Given the description of an element on the screen output the (x, y) to click on. 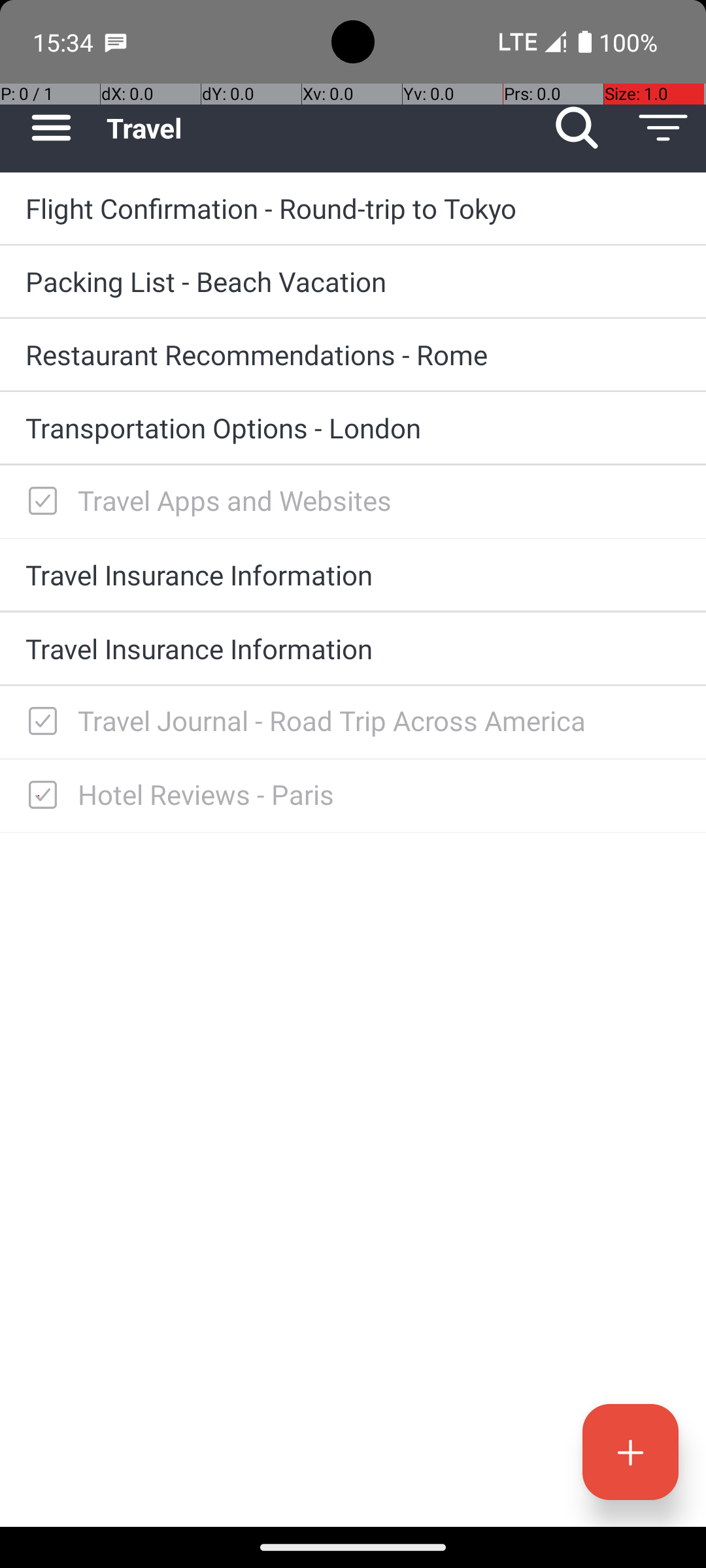
Flight Confirmation - Round-trip to Tokyo Element type: android.widget.TextView (352, 207)
Packing List - Beach Vacation Element type: android.widget.TextView (352, 280)
Transportation Options - London Element type: android.widget.TextView (352, 427)
to-do: Travel Apps and Websites Element type: android.widget.CheckBox (38, 501)
Travel Apps and Websites Element type: android.widget.TextView (378, 499)
Travel Insurance Information Element type: android.widget.TextView (352, 574)
to-do: Travel Journal - Road Trip Across America Element type: android.widget.CheckBox (38, 722)
Travel Journal - Road Trip Across America Element type: android.widget.TextView (378, 719)
to-do: Hotel Reviews - Paris Element type: android.widget.CheckBox (38, 795)
Hotel Reviews - Paris Element type: android.widget.TextView (378, 793)
